Given the description of an element on the screen output the (x, y) to click on. 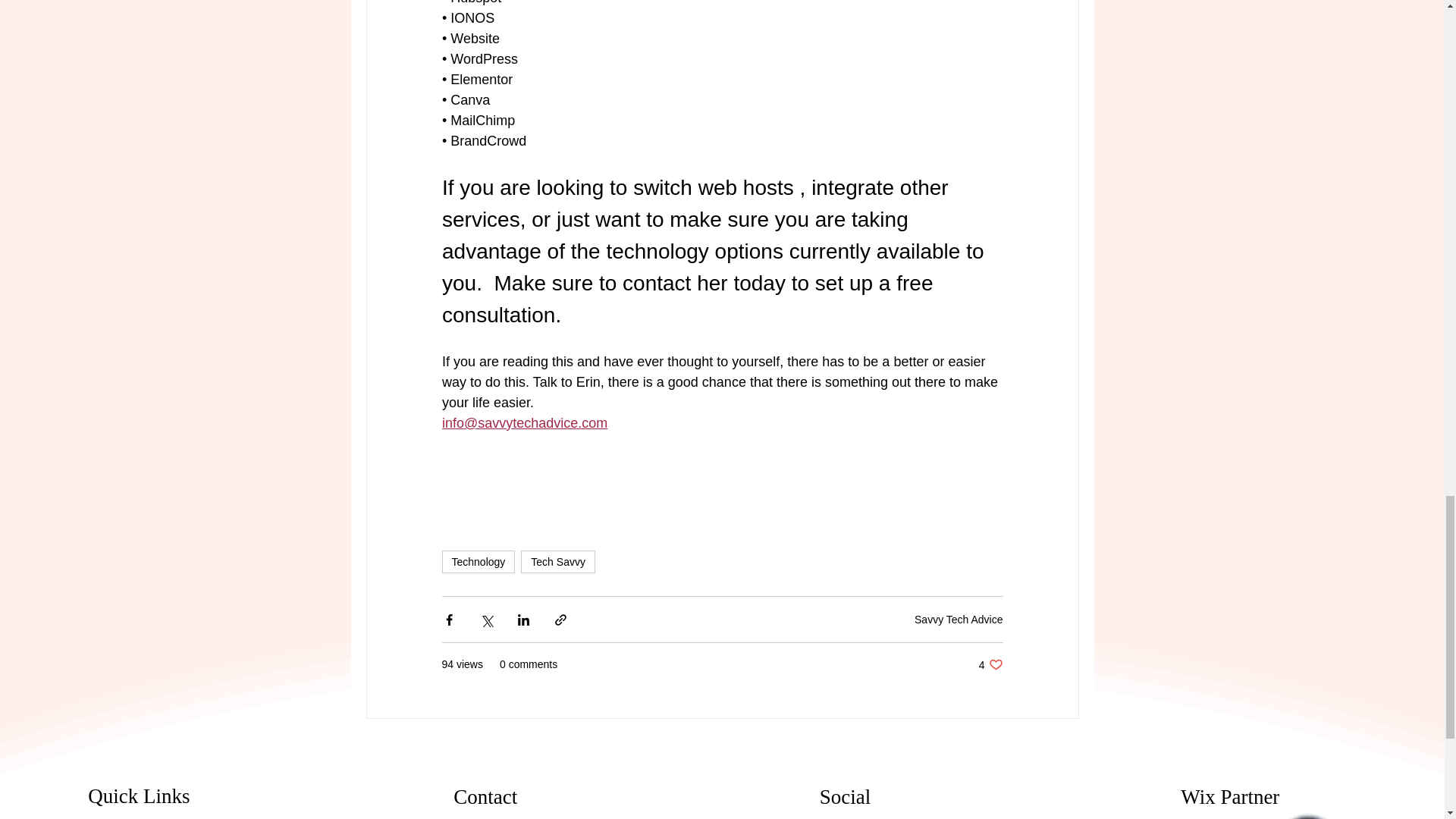
Savvy Tech Advice (990, 664)
Tech Savvy (958, 618)
Technology (558, 561)
